Given the description of an element on the screen output the (x, y) to click on. 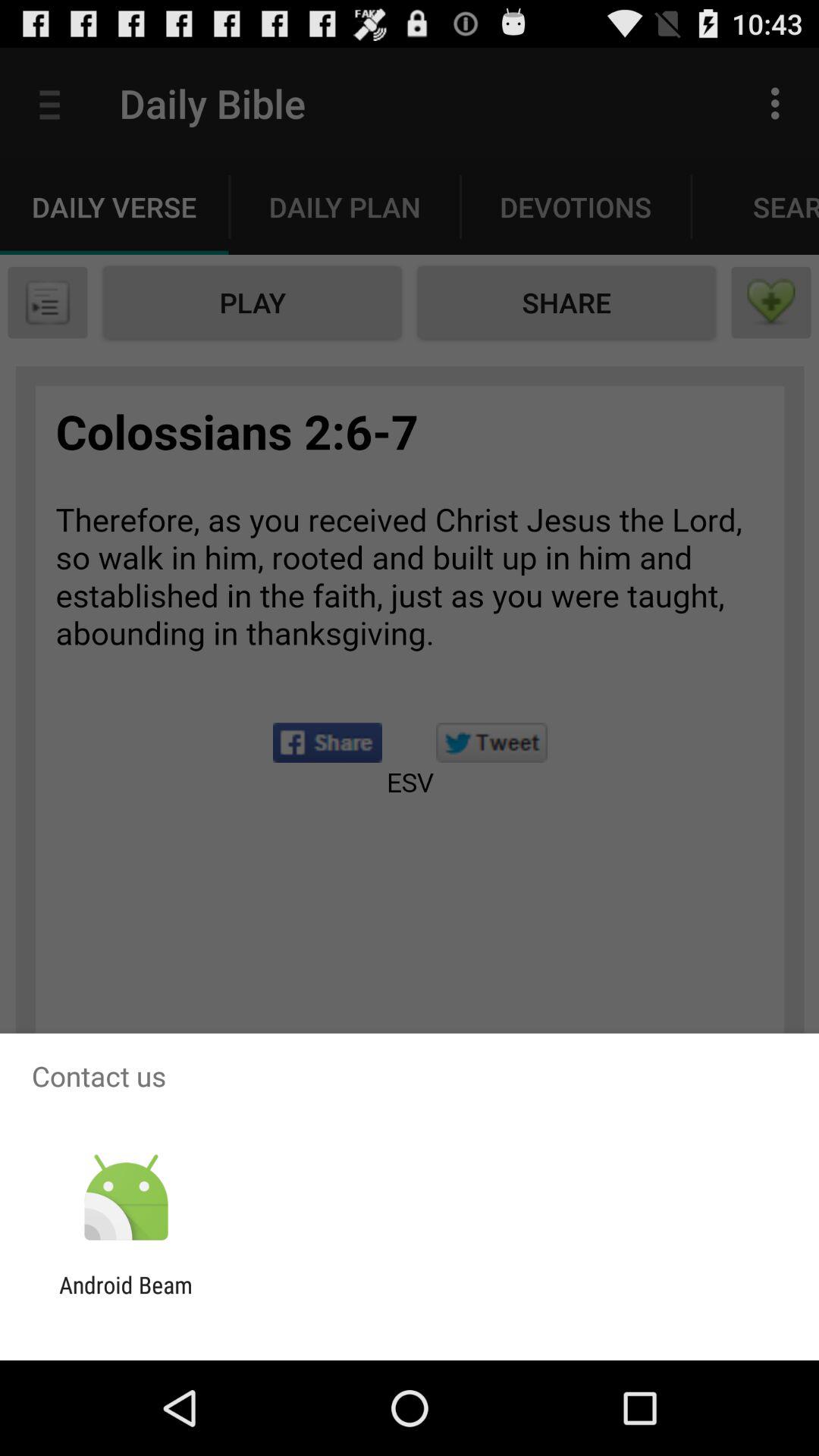
choose the android beam app (125, 1298)
